Given the description of an element on the screen output the (x, y) to click on. 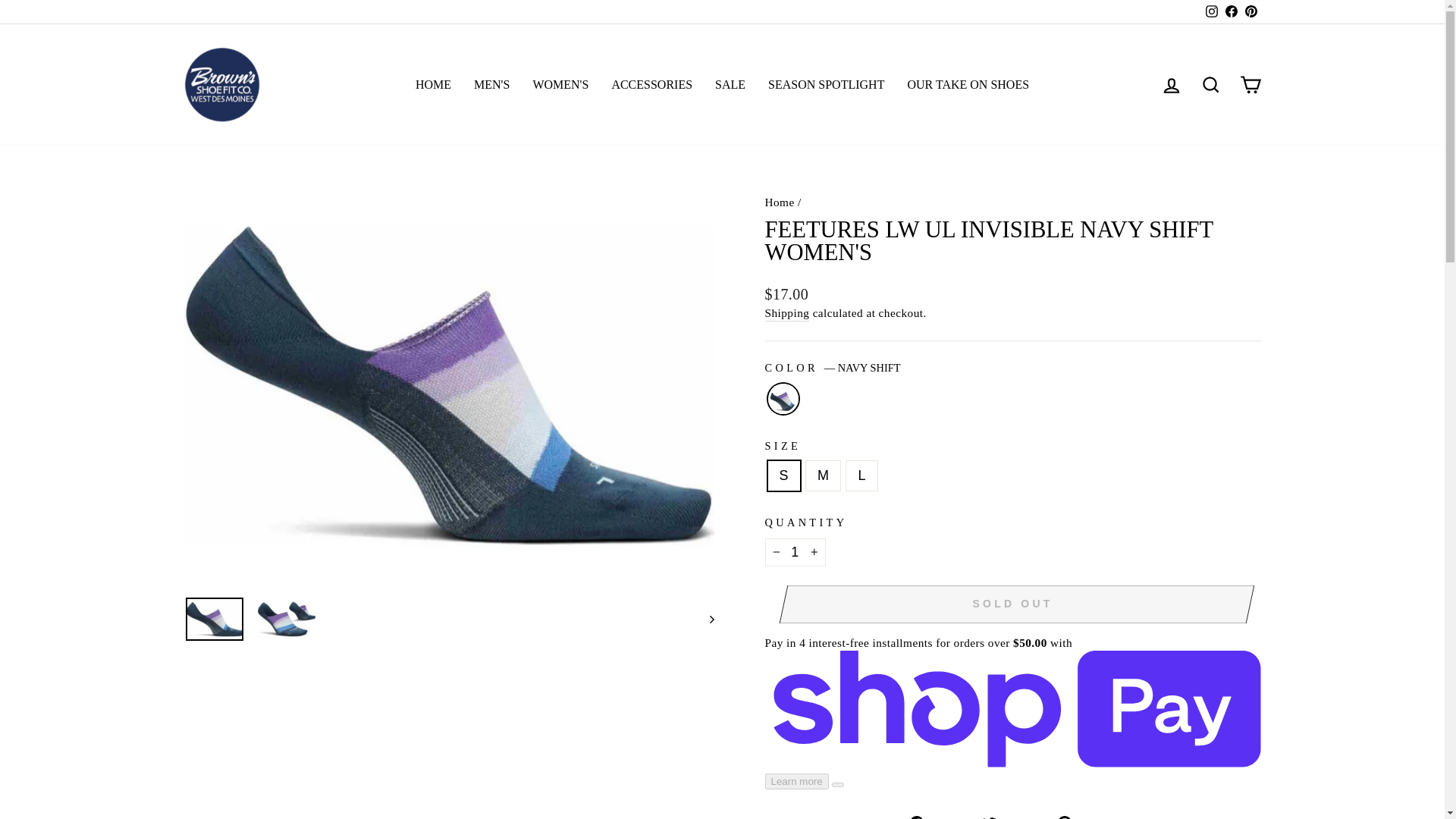
twitter (988, 817)
instagram (1211, 10)
Tweet on Twitter (1012, 815)
Pin on Pinterest (1086, 815)
1 (794, 552)
ACCOUNT (1170, 85)
ICON-SEARCH (1210, 84)
Share on Facebook (939, 815)
Back to the frontpage (778, 201)
